Given the description of an element on the screen output the (x, y) to click on. 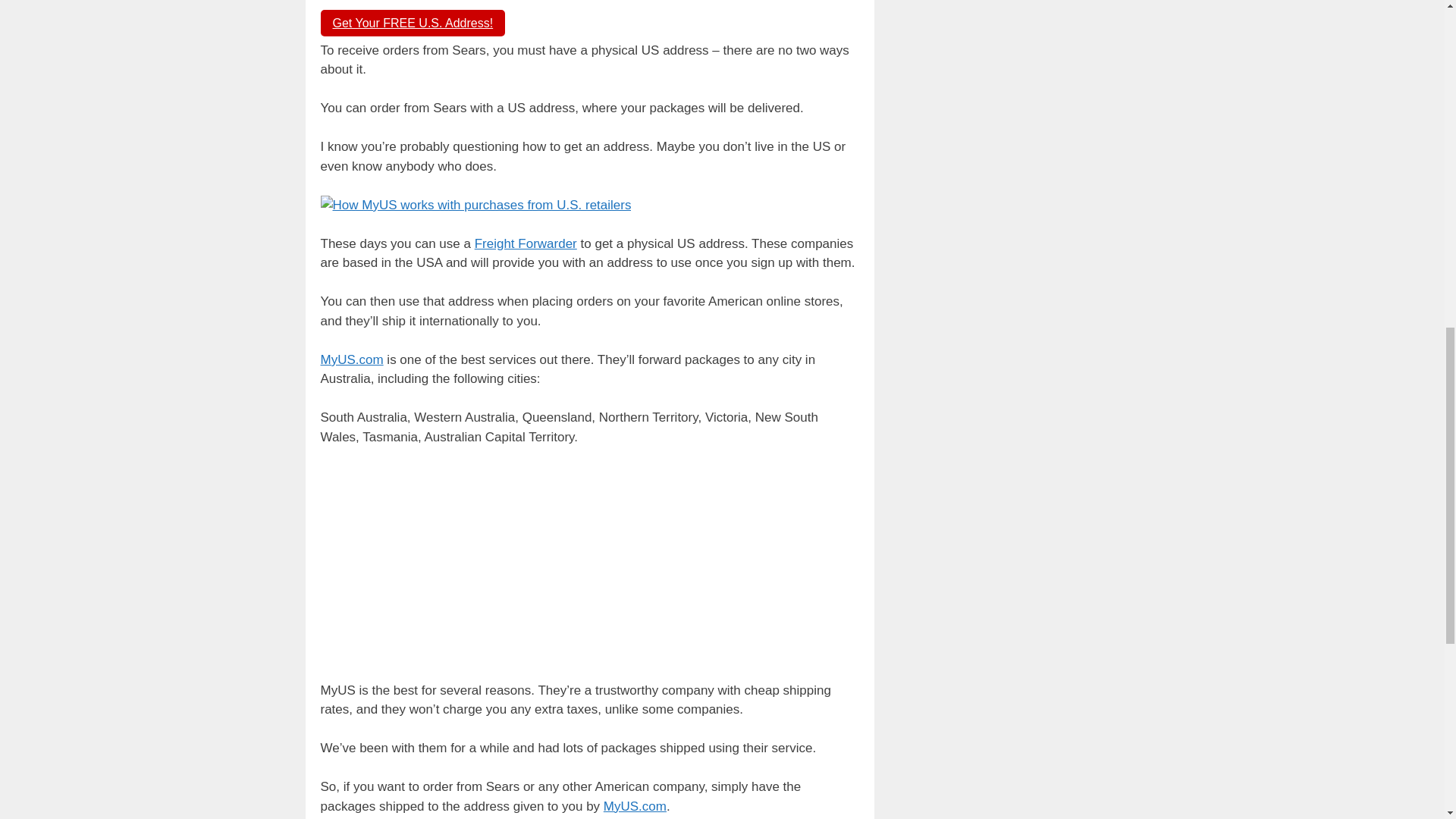
MyUS.com (635, 806)
MyUS.com (351, 359)
Get Your FREE U.S. Address! (412, 22)
Freight Forwarder (525, 243)
